Given the description of an element on the screen output the (x, y) to click on. 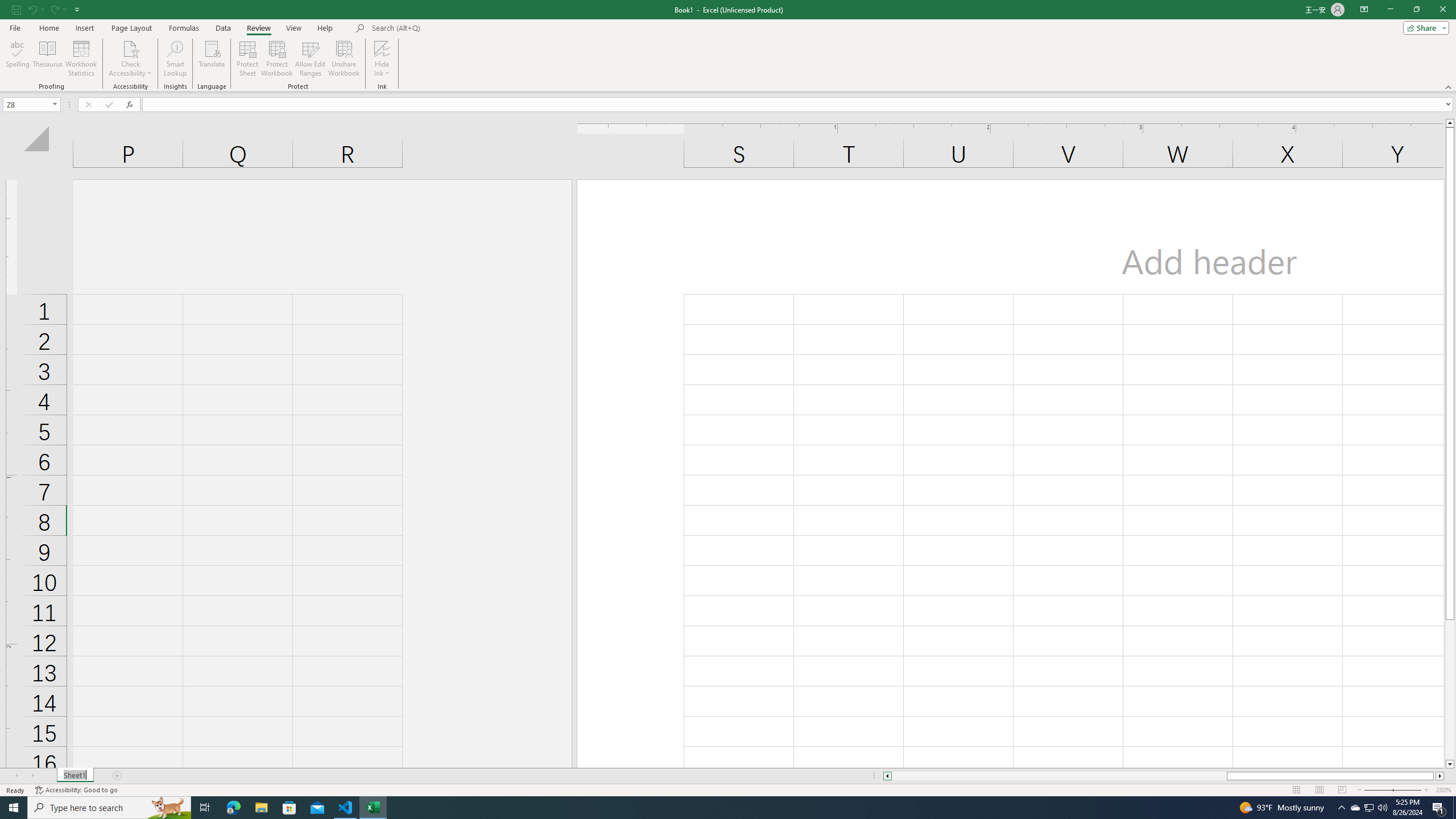
Workbook Statistics (81, 58)
Spelling... (17, 58)
Protect Sheet... (247, 58)
